Given the description of an element on the screen output the (x, y) to click on. 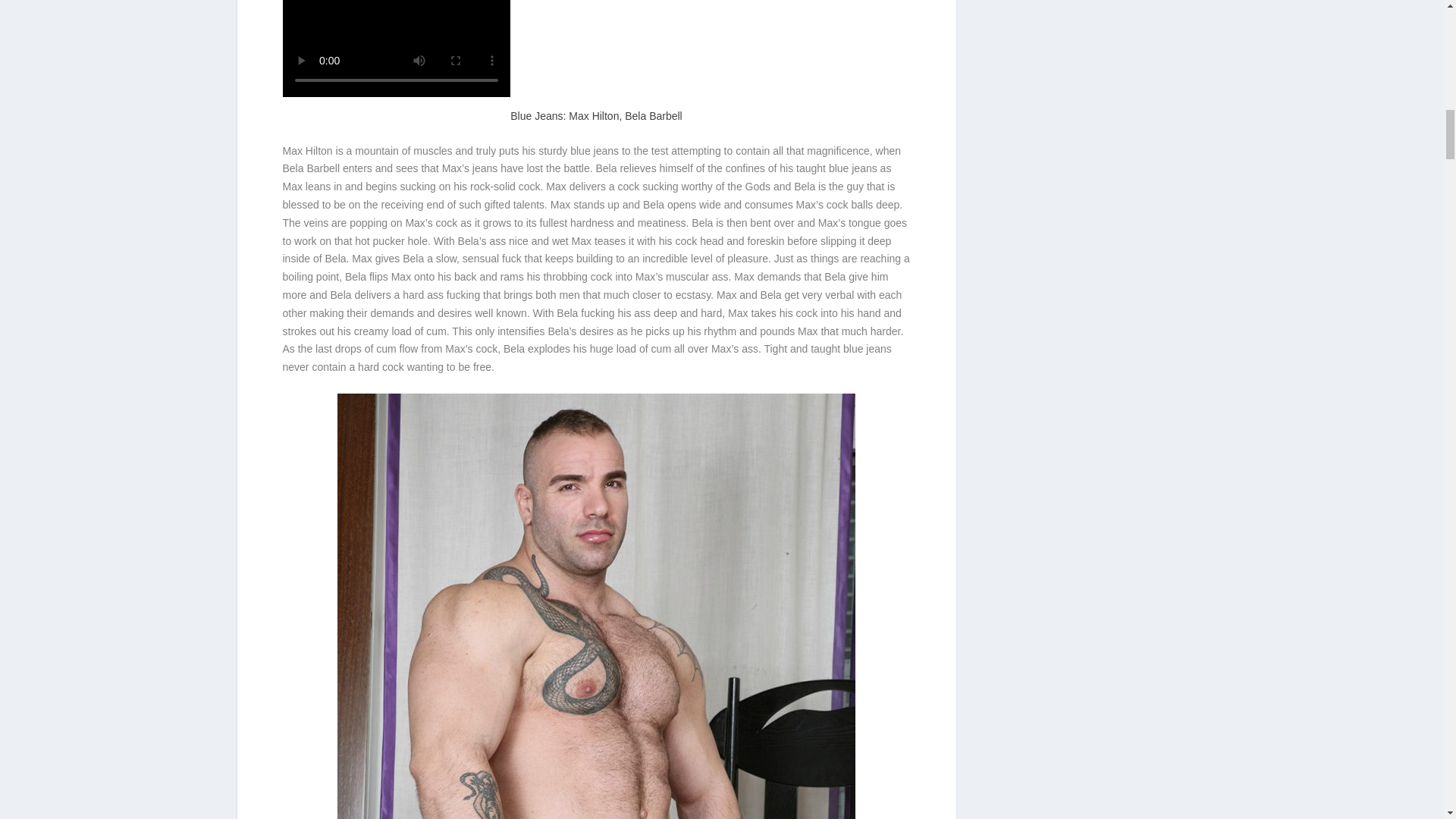
Blue Jeans: Max Hilton, Bela Barbell (596, 114)
